Given the description of an element on the screen output the (x, y) to click on. 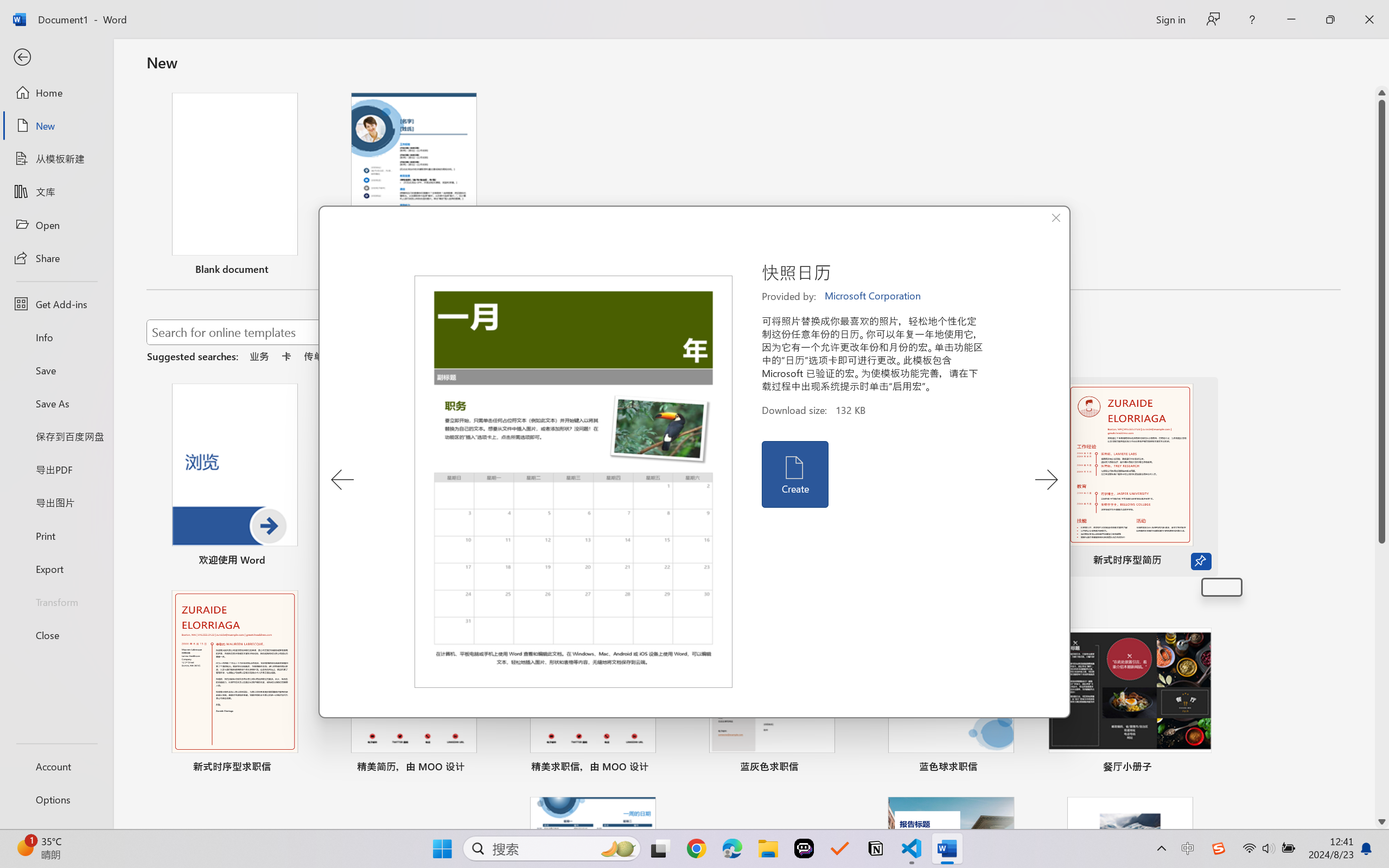
Microsoft Corporation (873, 296)
Previous Template (342, 479)
Export (56, 568)
Search for online templates (389, 333)
Account (56, 765)
Back (56, 57)
Transform (56, 601)
Start searching (638, 332)
